Given the description of an element on the screen output the (x, y) to click on. 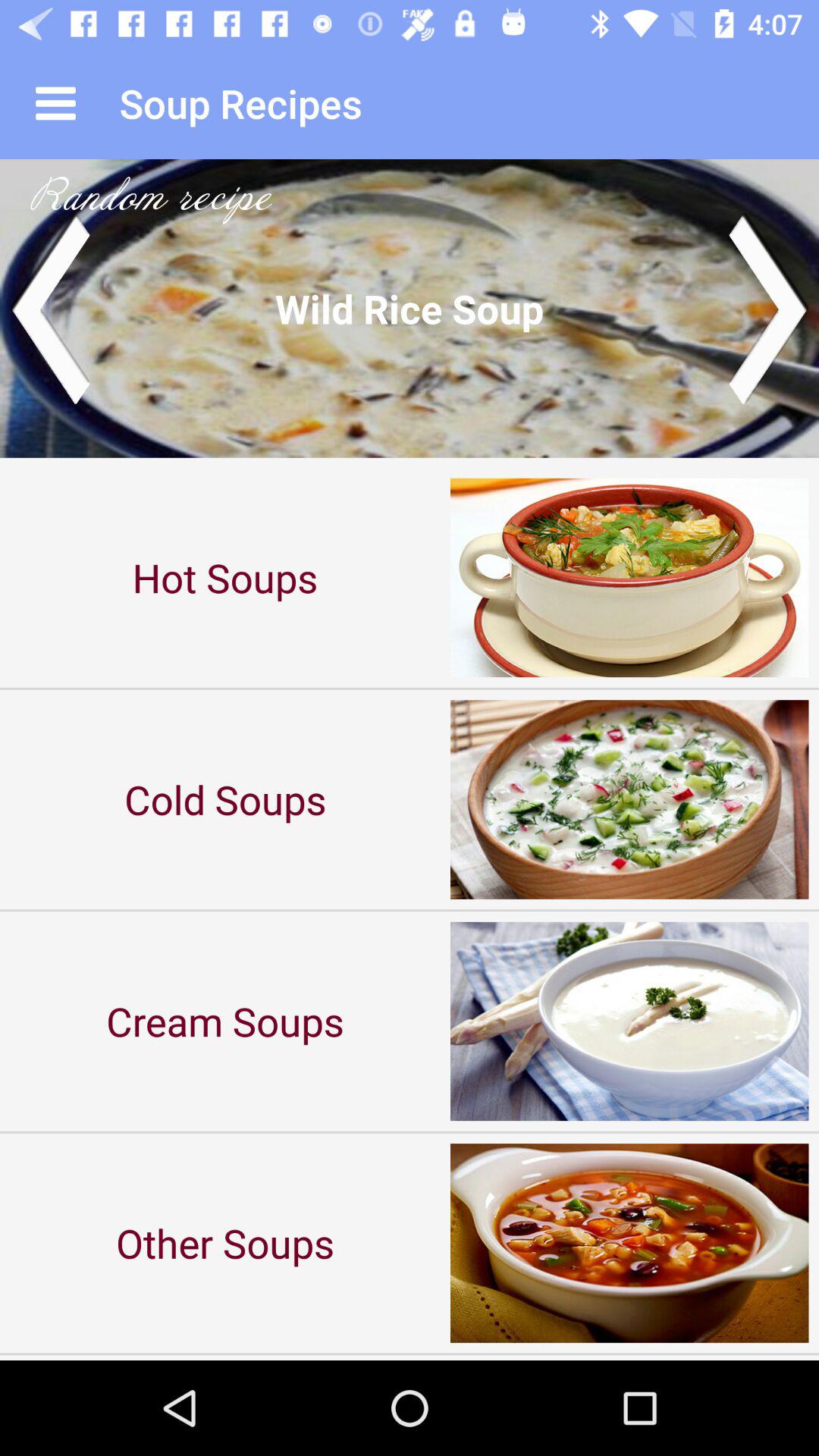
launch app to the left of soup recipes item (55, 103)
